Given the description of an element on the screen output the (x, y) to click on. 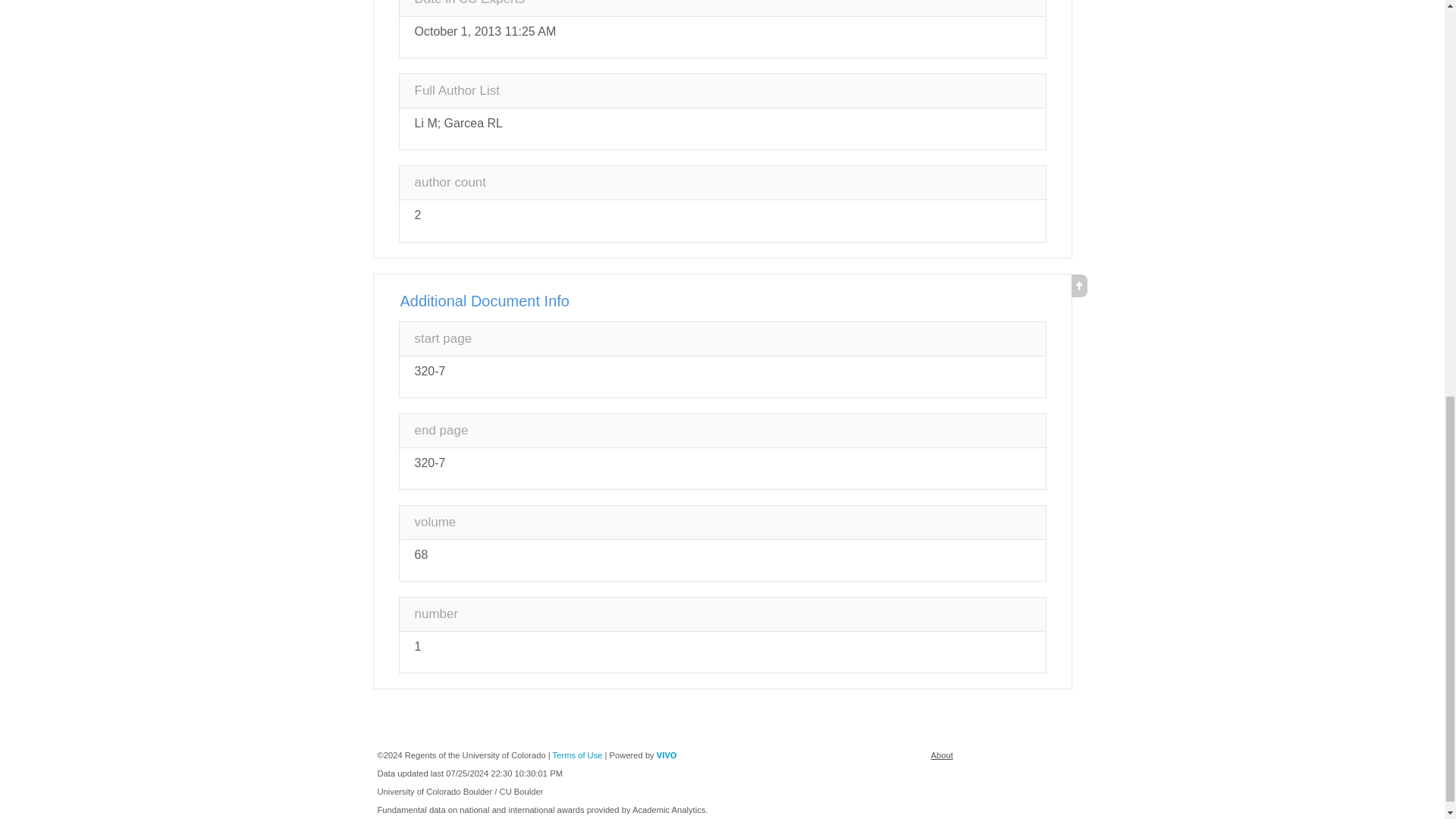
Terms of Use (577, 755)
About (942, 755)
VIVO (666, 755)
